Given the description of an element on the screen output the (x, y) to click on. 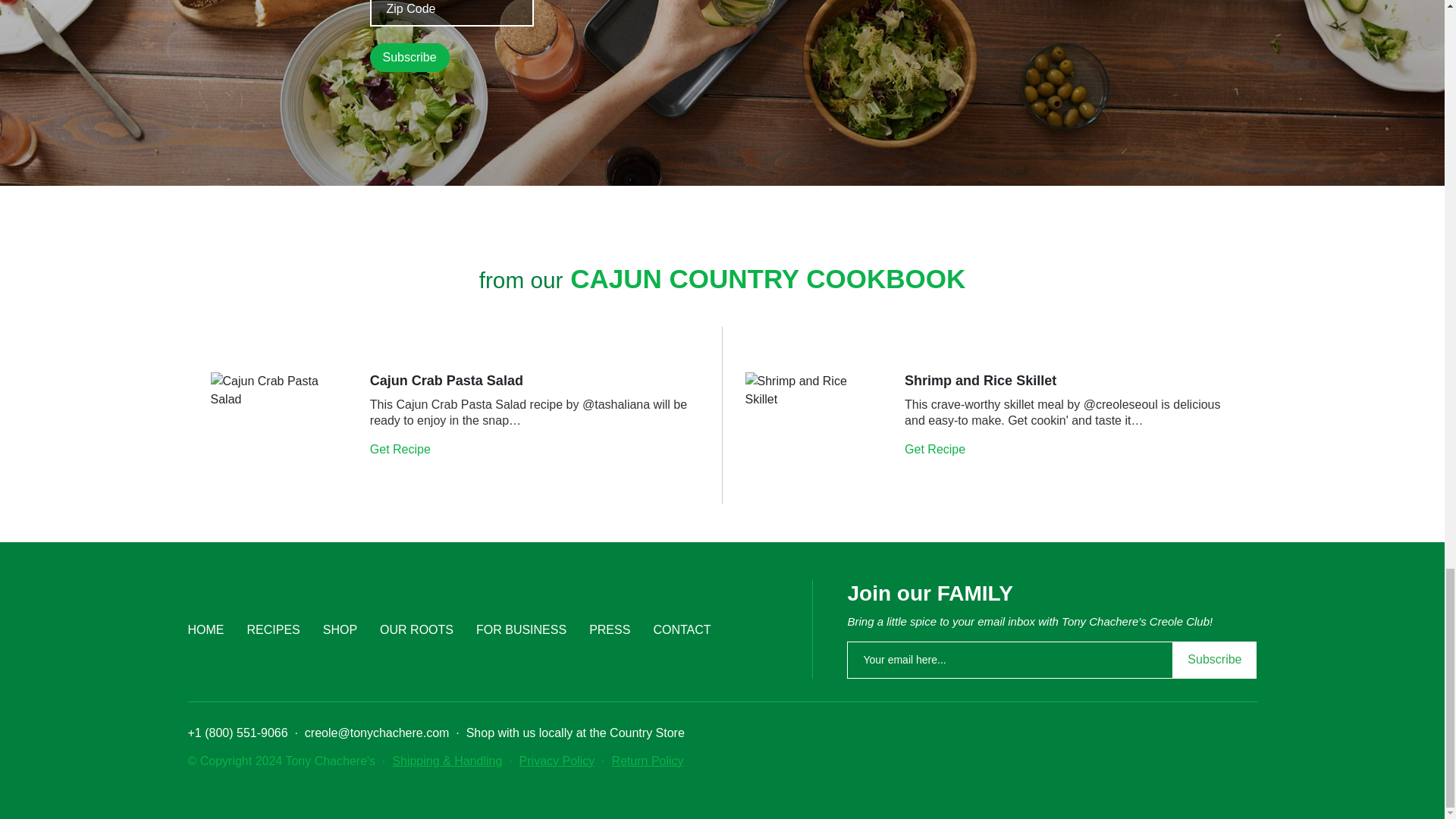
Get Recipe (936, 449)
RECIPES (273, 629)
OUR ROOTS (416, 629)
PRESS (609, 629)
Get Recipe (401, 449)
HOME (205, 629)
SHOP (339, 629)
Subscribe (409, 57)
FOR BUSINESS (521, 629)
Subscribe (409, 57)
